Given the description of an element on the screen output the (x, y) to click on. 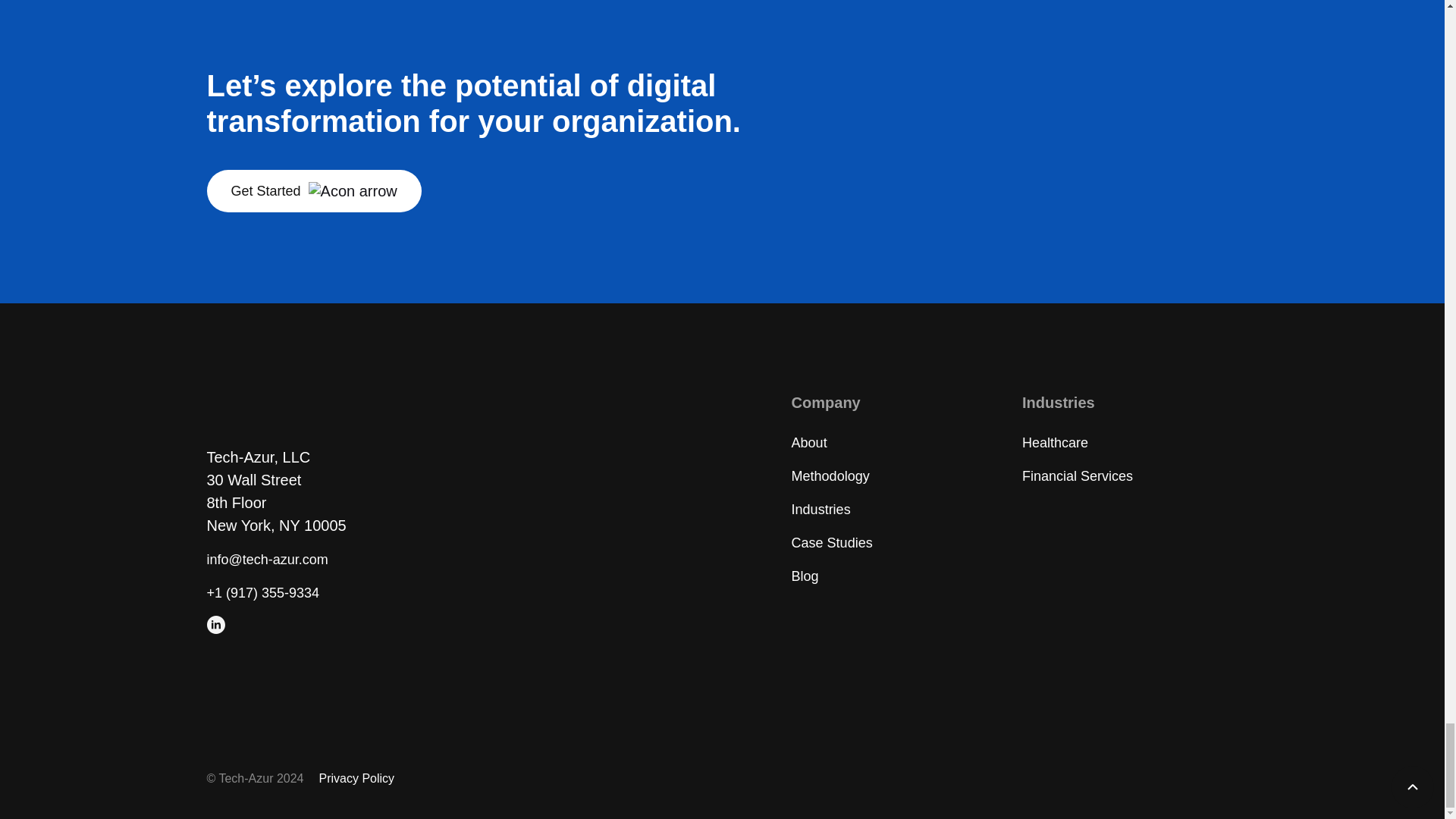
Get Started (313, 190)
About (809, 442)
Industries (821, 509)
Blog (805, 575)
Methodology (830, 476)
Financial Services (1077, 476)
Case Studies (832, 542)
Healthcare (1054, 442)
Privacy Policy (356, 778)
